Given the description of an element on the screen output the (x, y) to click on. 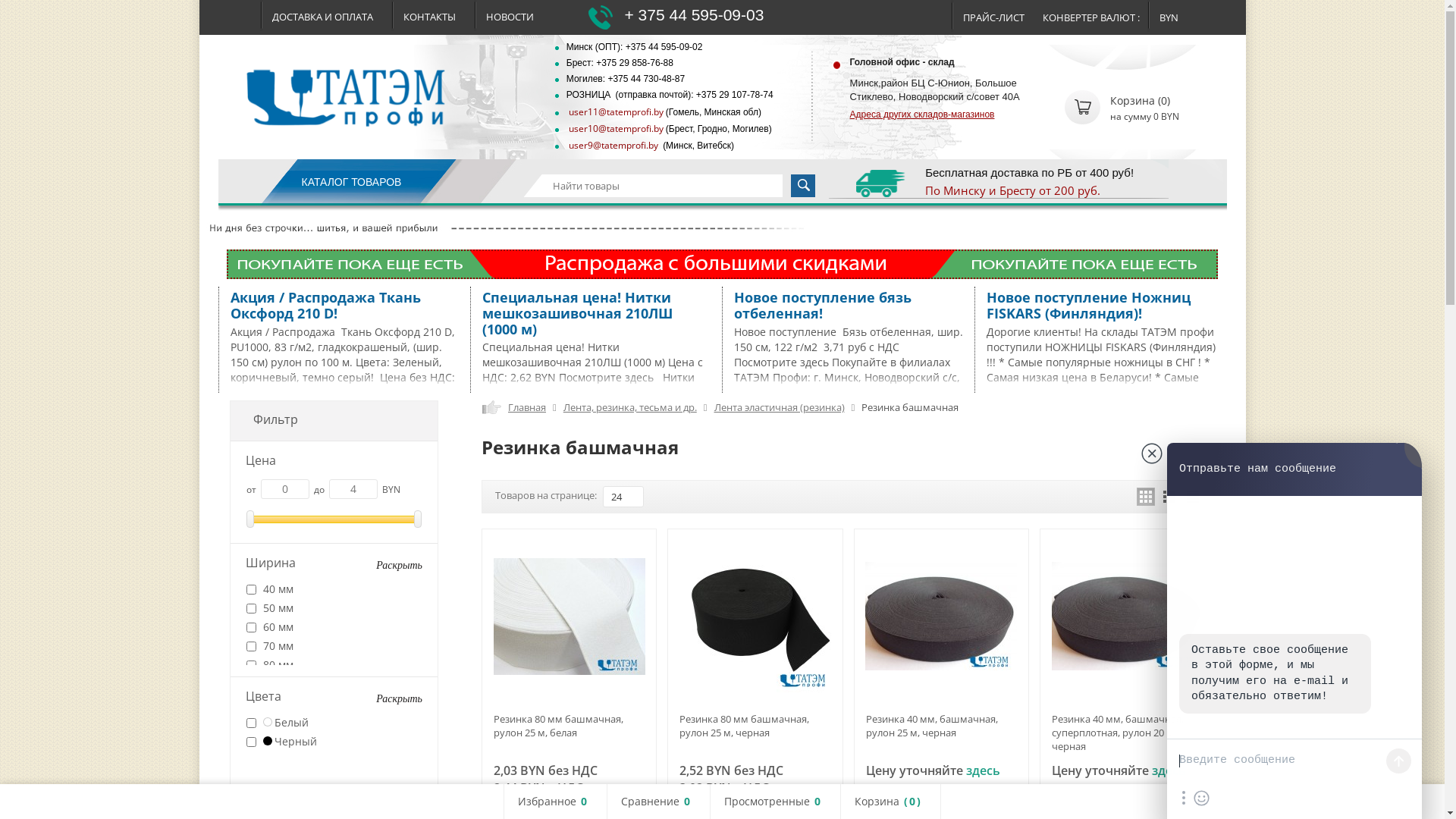
compact Element type: text (1192, 496)
grid Element type: text (1144, 496)
 user9@tatemprofi.by Element type: text (612, 144)
 user10@tatemprofi.by Element type: text (614, 128)
24 Element type: text (622, 496)
list Element type: text (1169, 496)
BYN Element type: text (1180, 15)
 user11@tatemprofi.by Element type: text (614, 111)
